Given the description of an element on the screen output the (x, y) to click on. 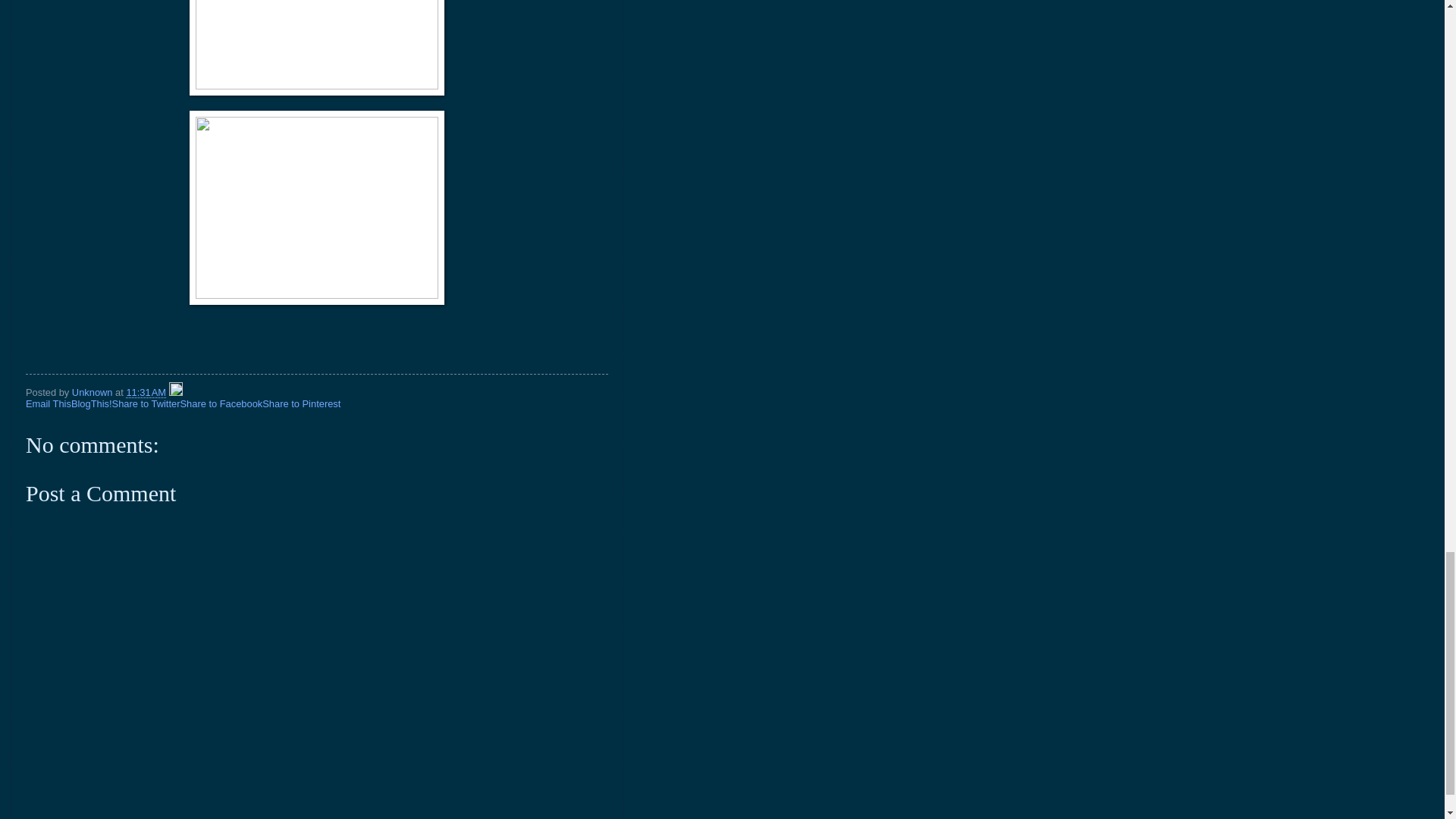
author profile (93, 392)
Edit Post (175, 392)
Email This (48, 403)
Share to Facebook (220, 403)
Share to Twitter (146, 403)
Share to Pinterest (301, 403)
BlogThis! (91, 403)
Unknown (93, 392)
Share to Facebook (220, 403)
permanent link (145, 392)
Share to Twitter (146, 403)
BlogThis! (91, 403)
Share to Pinterest (301, 403)
Email This (48, 403)
